Given the description of an element on the screen output the (x, y) to click on. 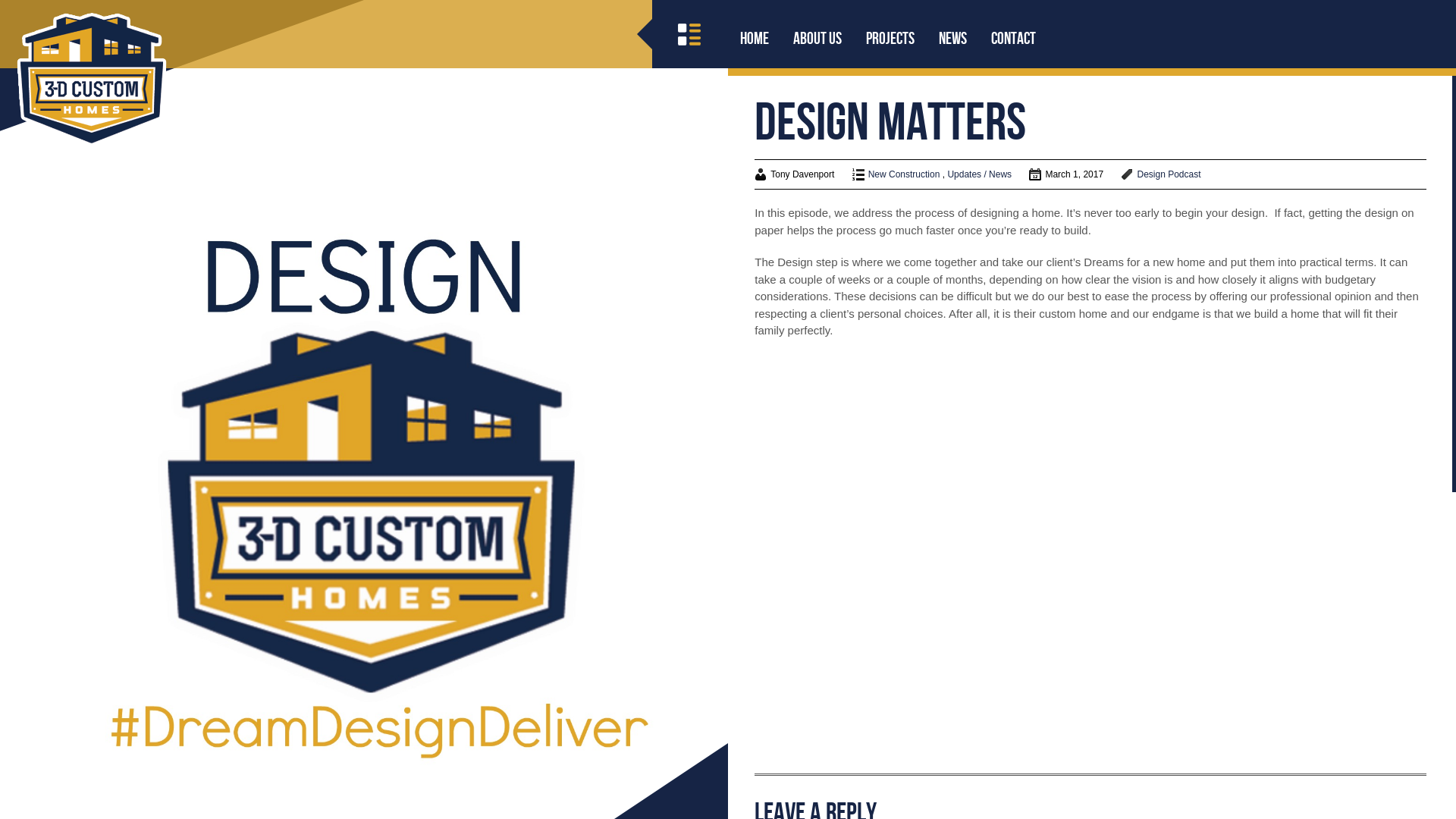
Home Element type: text (754, 37)
Design Element type: text (1150, 174)
We Build the House, You Make the Home Element type: text (1338, 752)
News Element type: text (952, 37)
Design Matters Element type: text (1295, 781)
Deck/Covered Porch Element type: text (1307, 546)
Outdoor Builds Element type: text (1294, 585)
Updates / News Element type: text (979, 174)
Podcast Element type: text (1183, 174)
Remodeling Projects Element type: text (1307, 605)
About Us Element type: text (817, 37)
New Construction Element type: text (1301, 565)
Contact Element type: text (1013, 37)
Residential Homes Element type: text (1303, 624)
New Construction Element type: text (904, 174)
Projects Element type: text (889, 37)
A Reputation of Knowledge Element type: text (1321, 801)
